Given the description of an element on the screen output the (x, y) to click on. 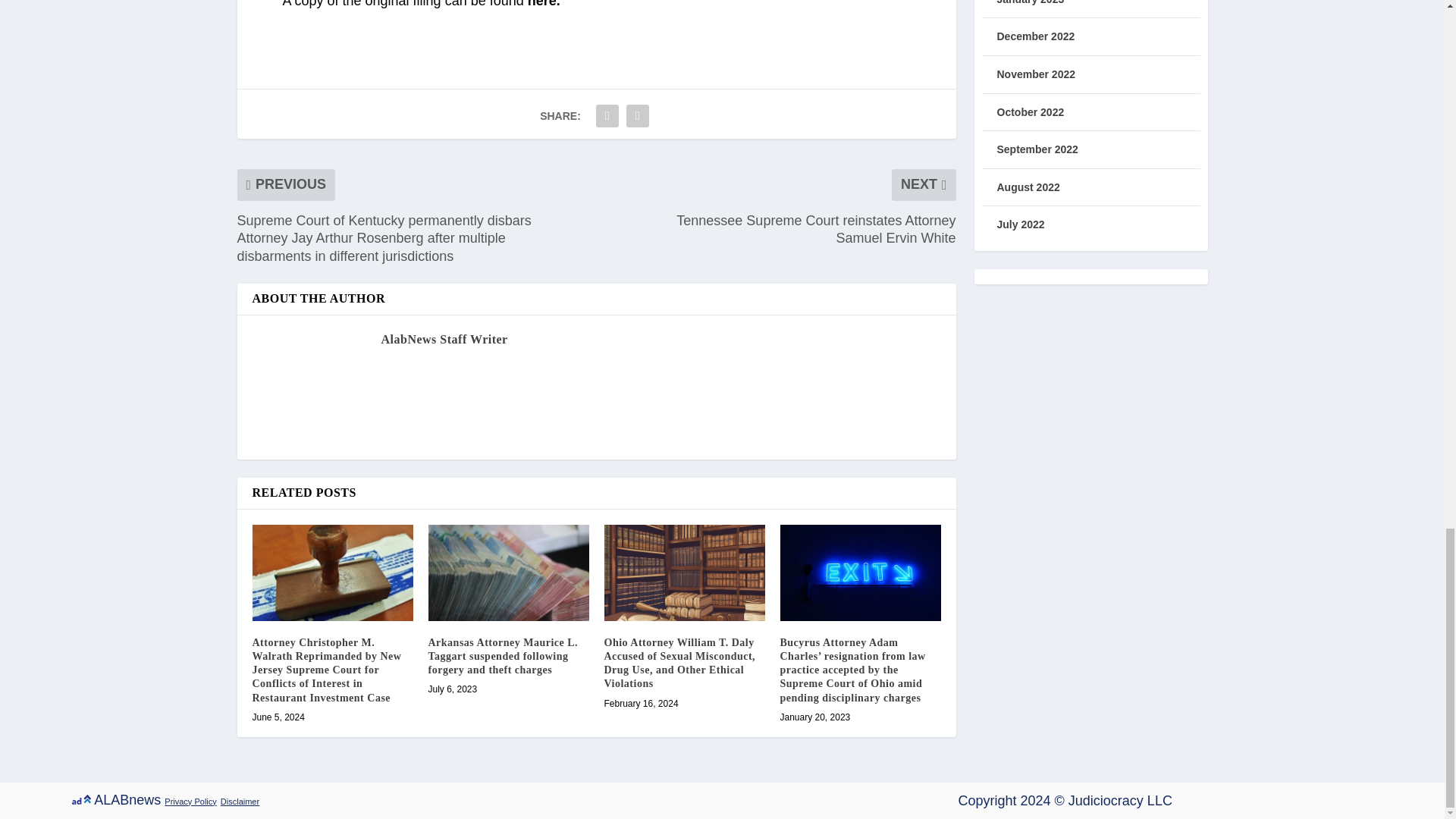
View all posts by AlabNews Staff Writer (443, 338)
AlabNews Staff Writer (443, 338)
here. (543, 4)
